Given the description of an element on the screen output the (x, y) to click on. 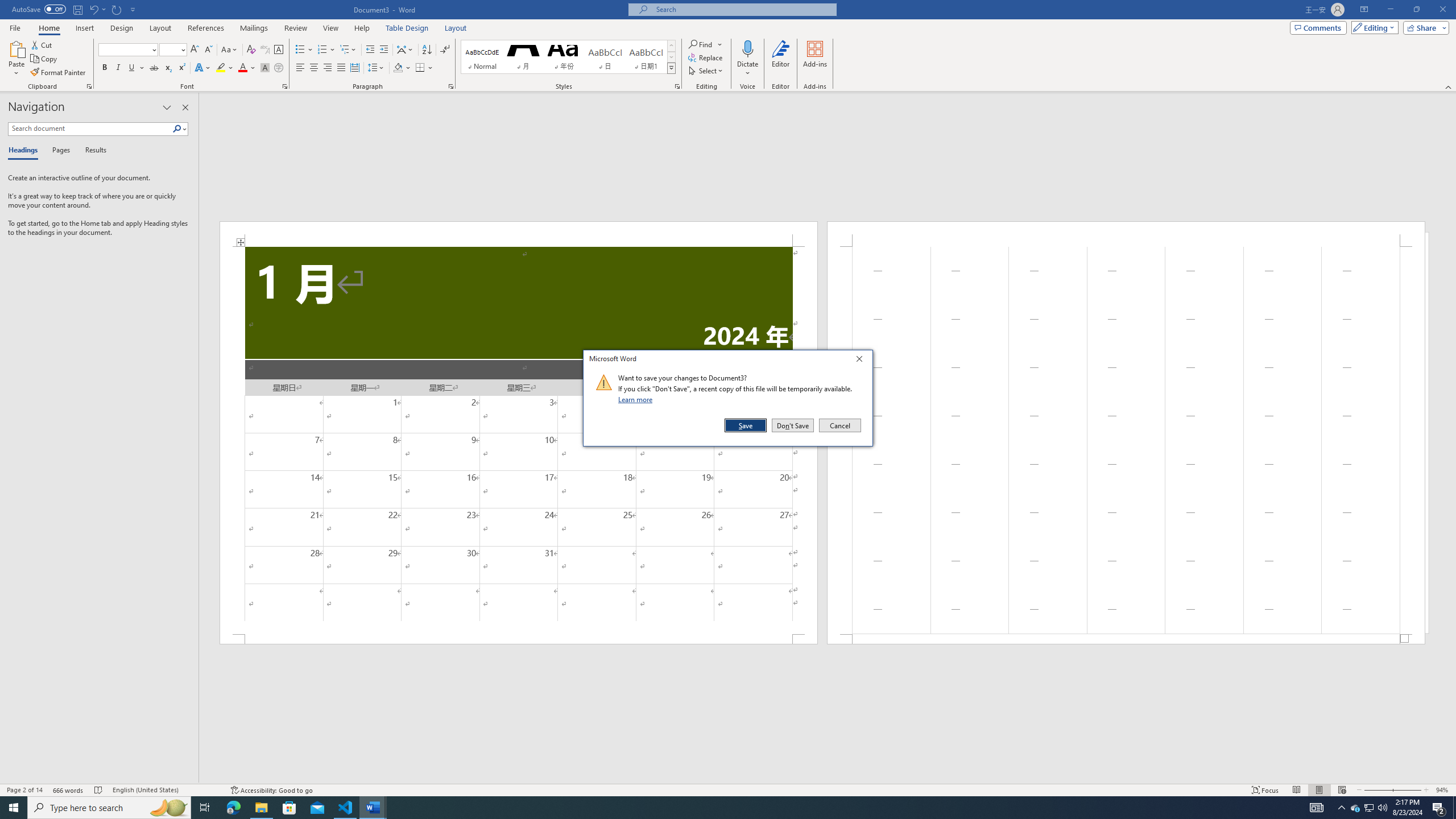
Increase Indent (383, 49)
AutomationID: QuickStylesGallery (568, 56)
Microsoft Edge (233, 807)
Asian Layout (405, 49)
Spelling and Grammar Check No Errors (98, 790)
Search (179, 128)
Search highlights icon opens search home window (167, 807)
Enclose Characters... (278, 67)
Font (128, 49)
Paragraph... (450, 85)
Italic (118, 67)
Close pane (185, 107)
